Given the description of an element on the screen output the (x, y) to click on. 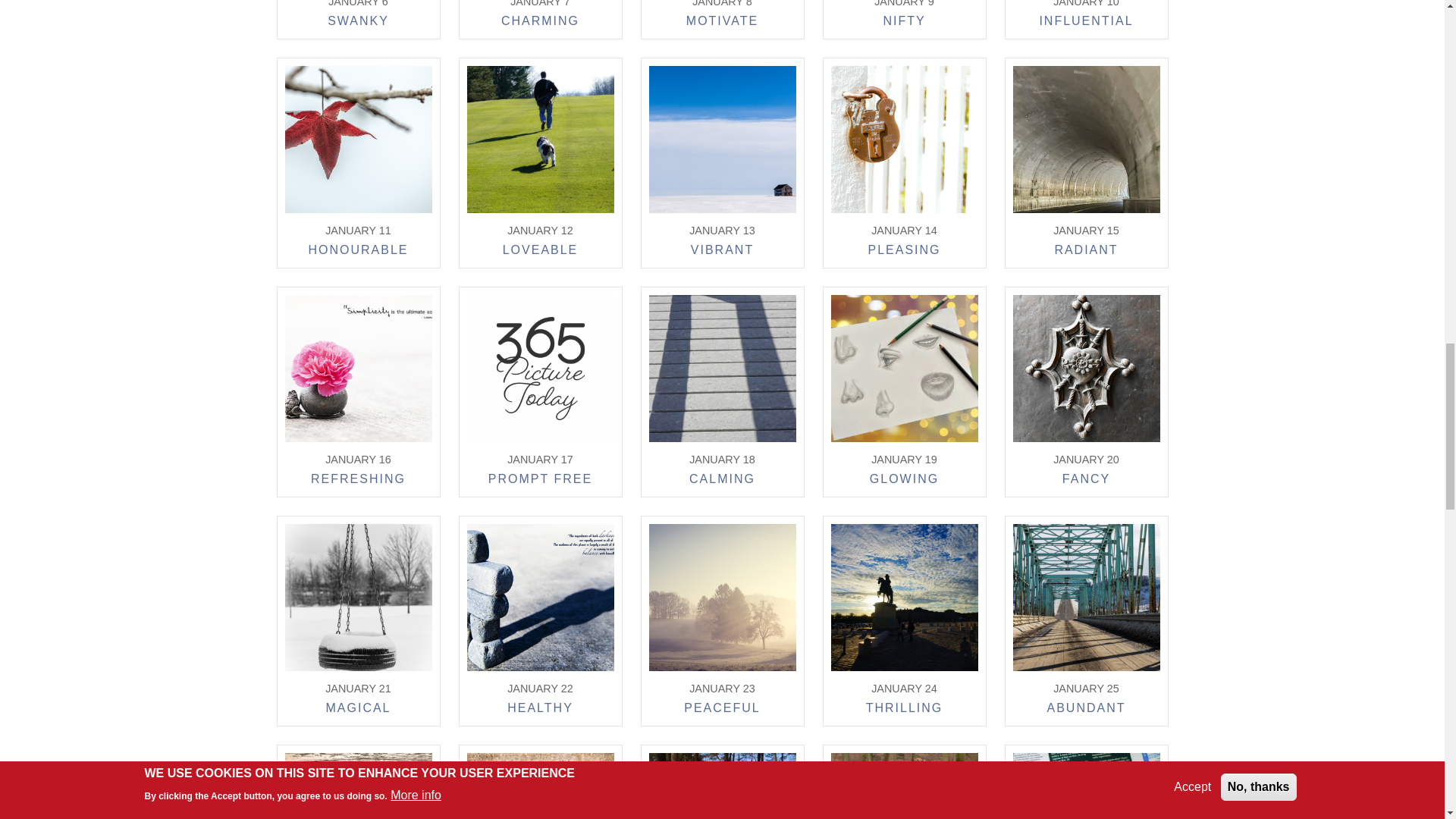
HONOURABLE (357, 252)
PLEASING (903, 252)
SWANKY (357, 23)
MOTIVATE (721, 23)
RADIANT (1086, 252)
INFLUENTIAL (1085, 23)
VIBRANT (722, 252)
CHARMING (539, 23)
REFRESHING (358, 481)
LOVEABLE (540, 252)
